Given the description of an element on the screen output the (x, y) to click on. 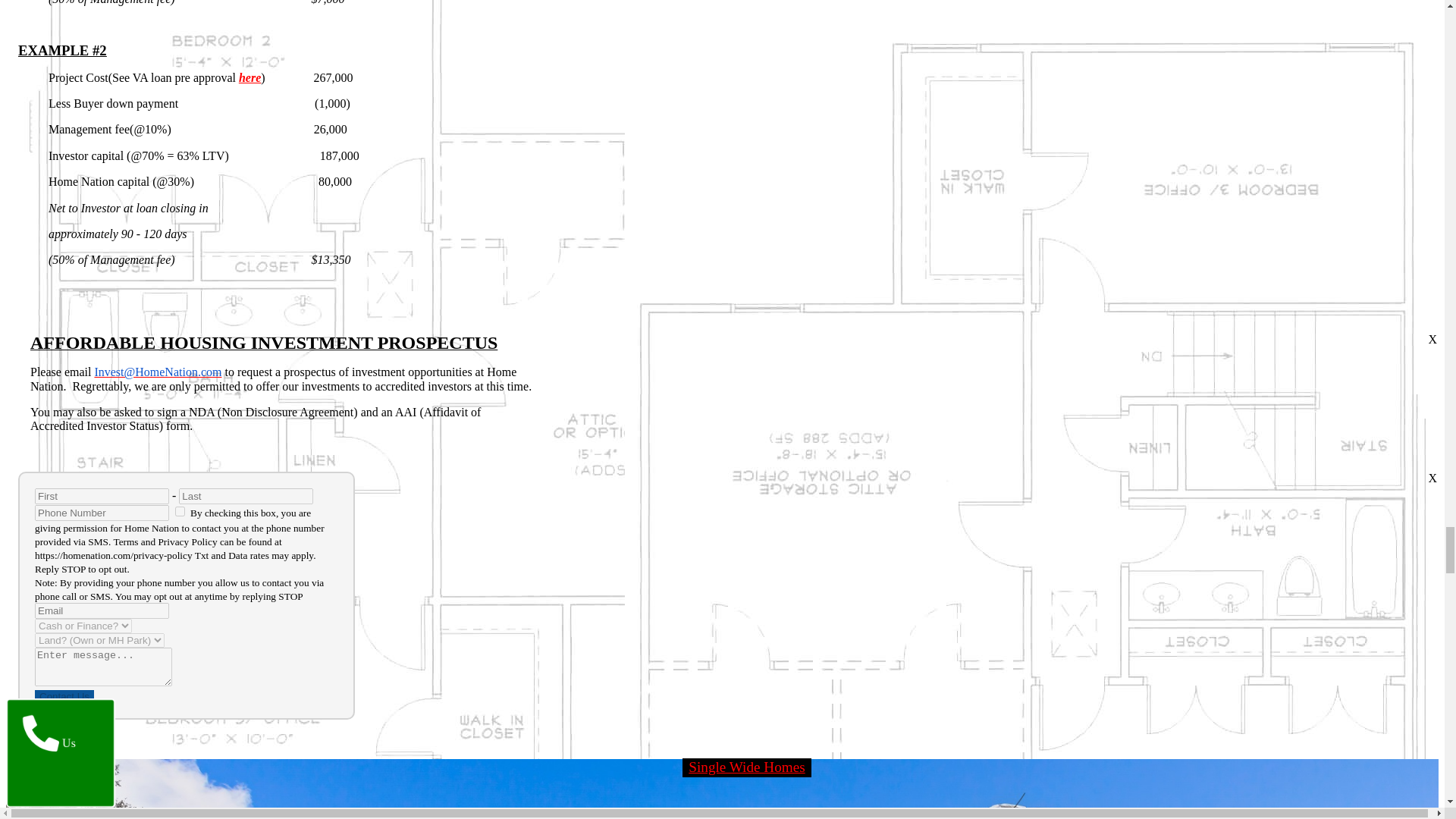
Contact Us (64, 696)
yes (179, 511)
